Given the description of an element on the screen output the (x, y) to click on. 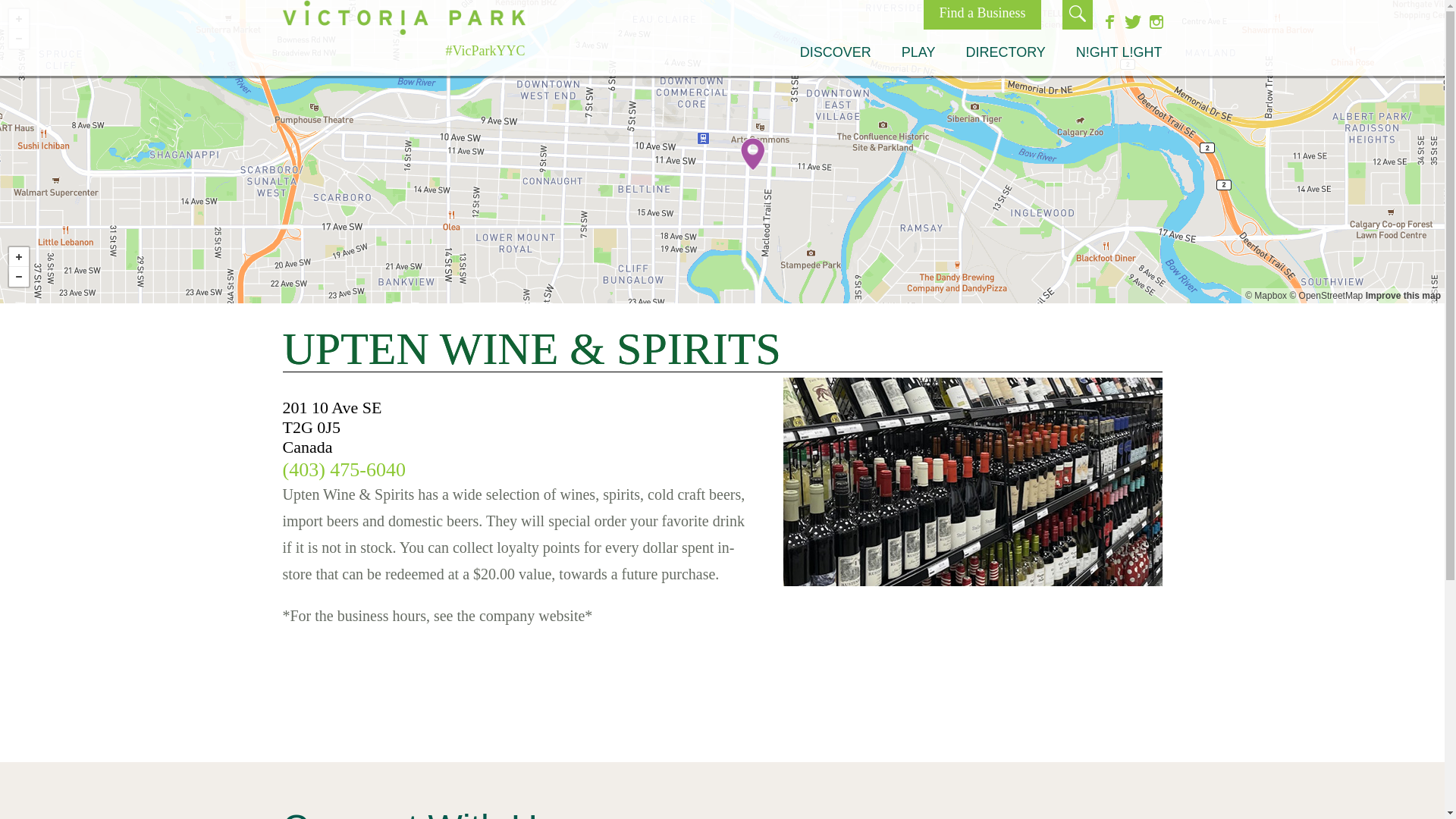
Mapbox (1265, 295)
Improve this map (1403, 295)
Zoom in (18, 18)
Zoom out (18, 276)
OpenStreetMap (1325, 295)
Zoom in (18, 256)
Zoom out (18, 38)
